Given the description of an element on the screen output the (x, y) to click on. 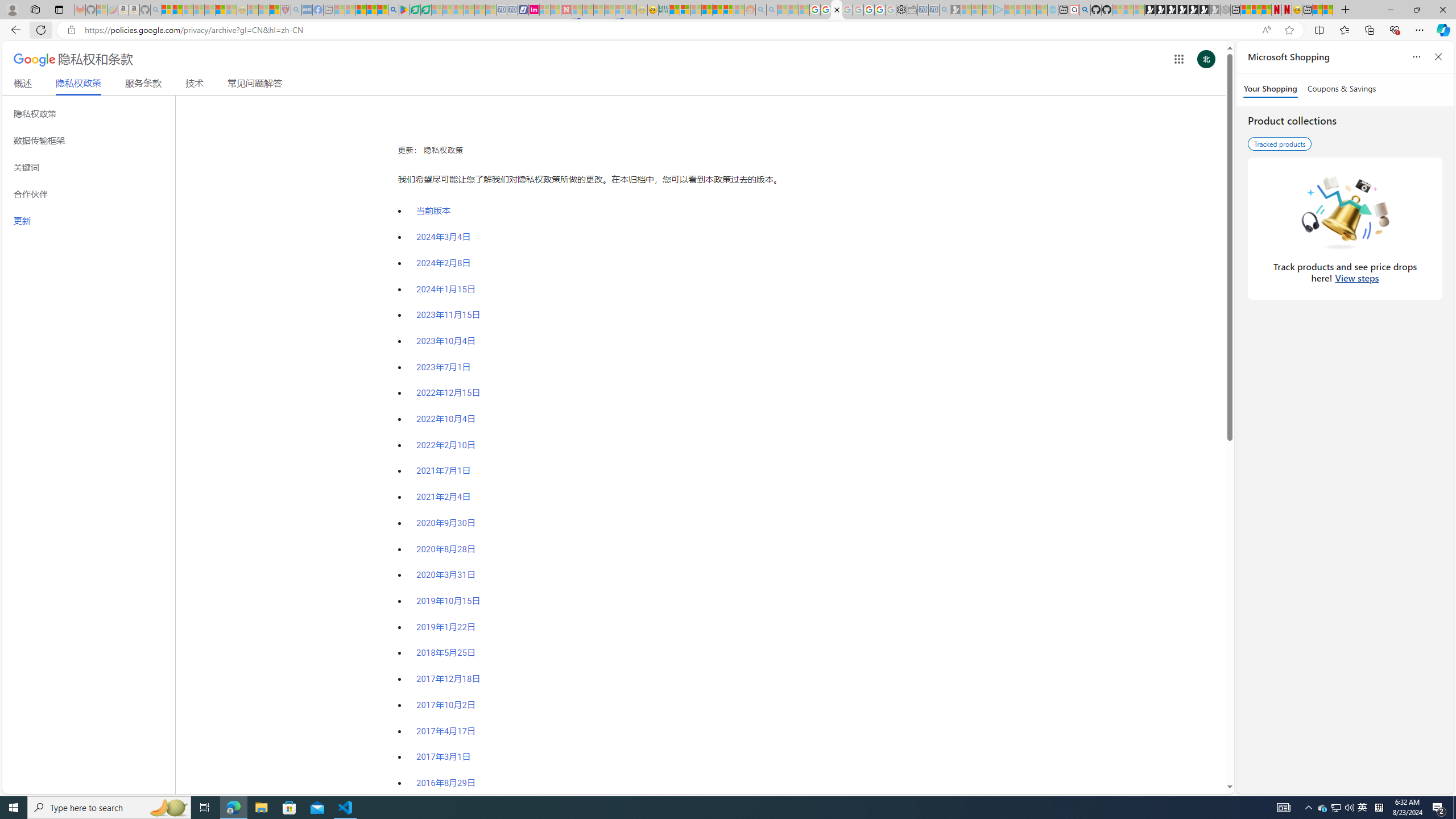
Expert Portfolios (707, 9)
Pets - MSN (371, 9)
Jobs - lastminute.com Investor Portal (534, 9)
